Given the description of an element on the screen output the (x, y) to click on. 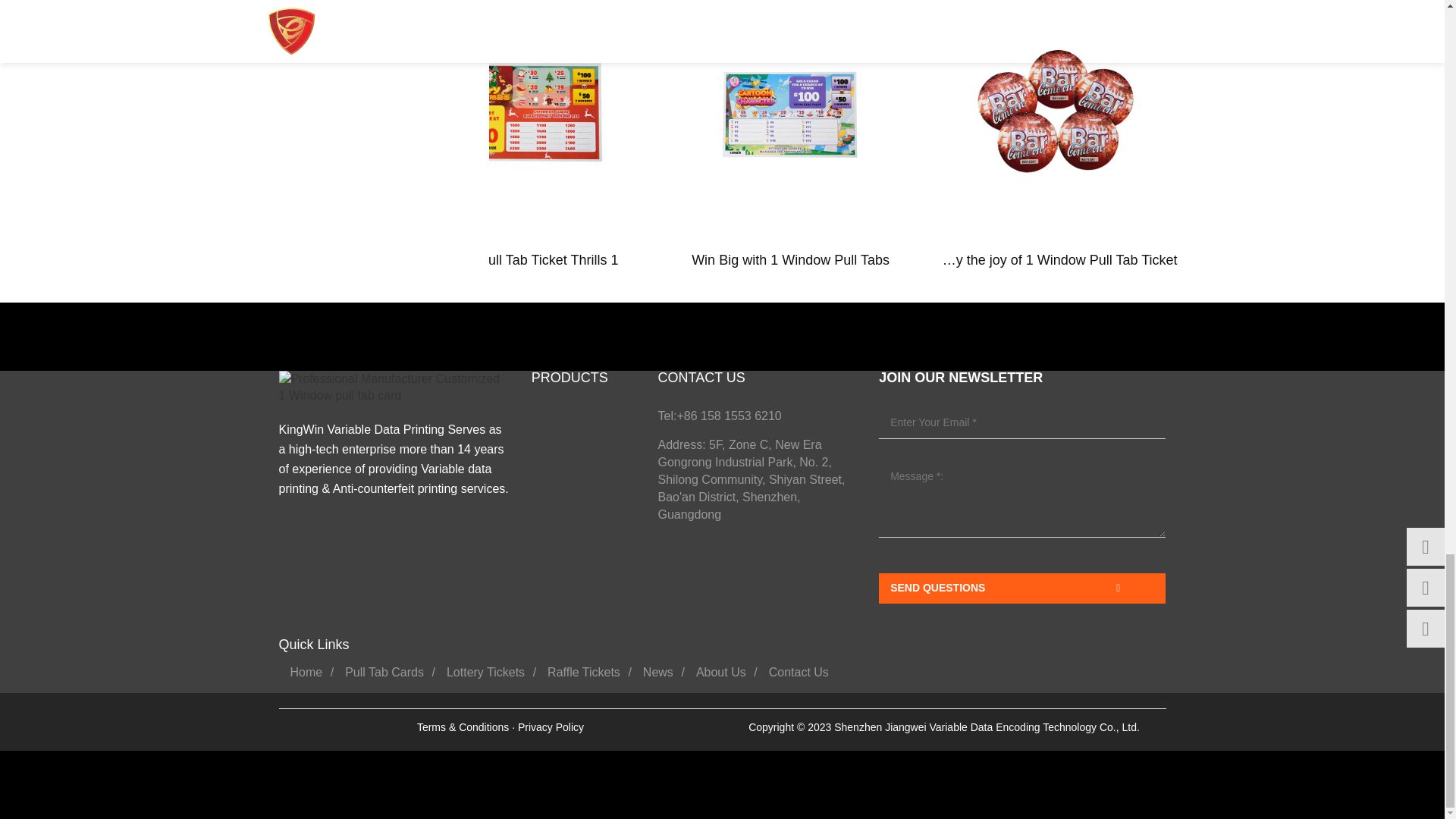
Win Big with 1 Window Pull Tabs (789, 115)
Enjoy the joy of 1 Window Pull Tab Ticket (1057, 115)
1 Window Pull Tab Ticket Thrills (523, 115)
